Given the description of an element on the screen output the (x, y) to click on. 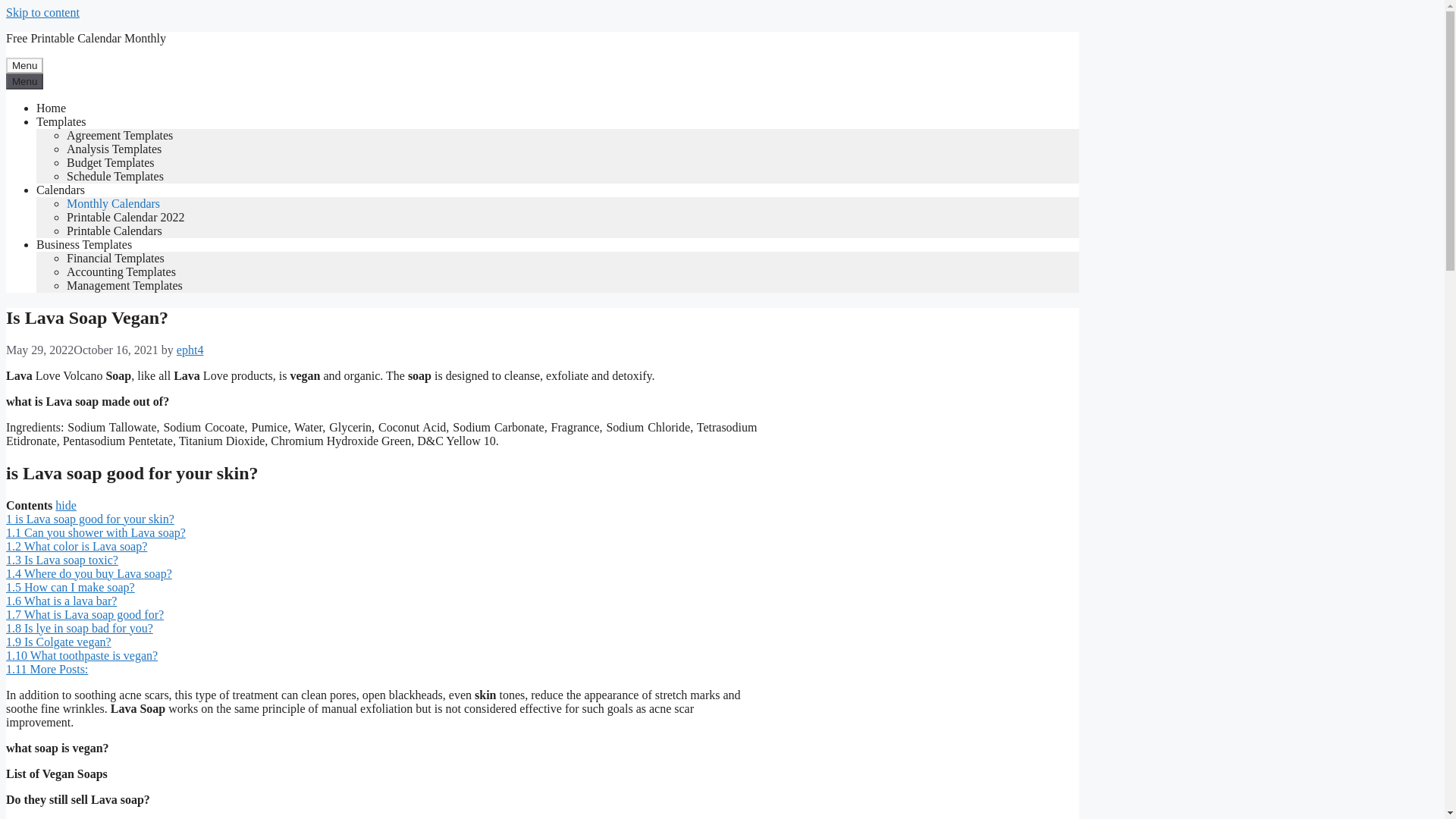
epht4 (189, 349)
1.9 Is Colgate vegan? (58, 641)
1.5 How can I make soap? (70, 586)
Home (50, 107)
Budget Templates (110, 162)
Templates (60, 121)
Management Templates (124, 285)
Agreement Templates (119, 134)
View all posts by epht4 (189, 349)
Accounting Templates (121, 271)
